Given the description of an element on the screen output the (x, y) to click on. 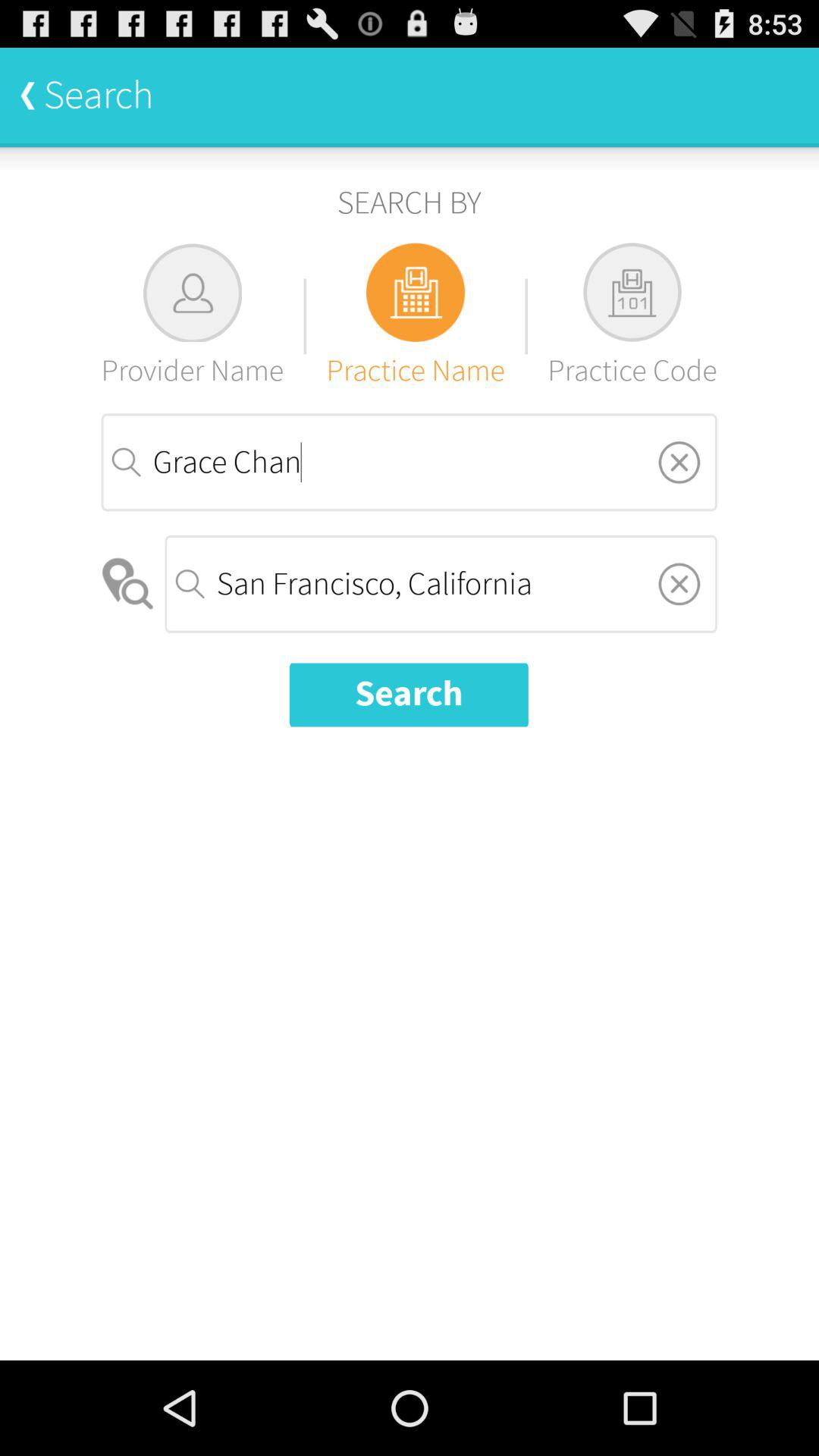
tap the icon above the search (440, 584)
